Given the description of an element on the screen output the (x, y) to click on. 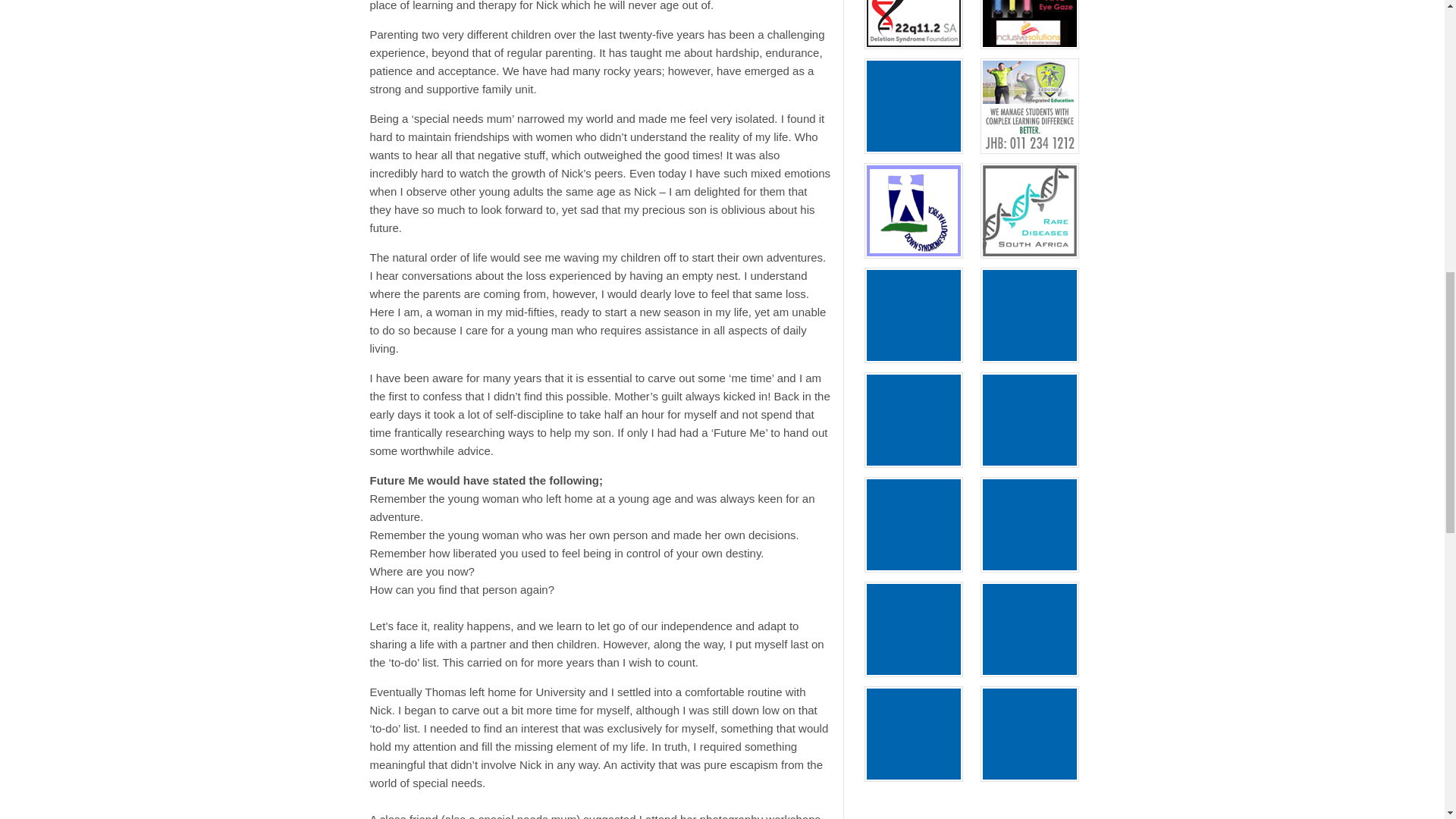
Internal side EDU360 (1028, 109)
Internal side brave hearts (913, 109)
Internal side 22q11b (913, 5)
Internal side down syndrome (913, 214)
Internal side Inclusive Solutions (1028, 5)
Internal side Rare diseases (1028, 214)
